Given the description of an element on the screen output the (x, y) to click on. 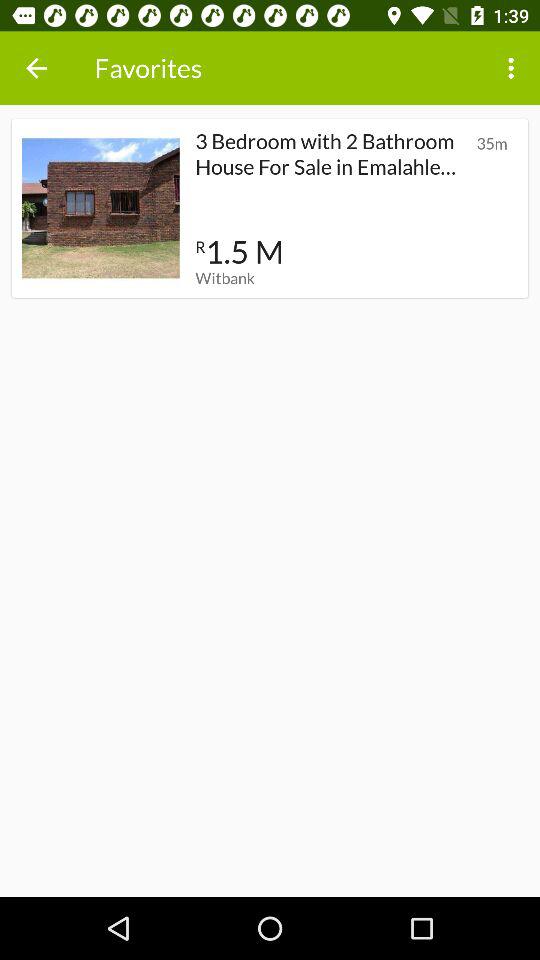
click the icon next to the favorites item (513, 67)
